Given the description of an element on the screen output the (x, y) to click on. 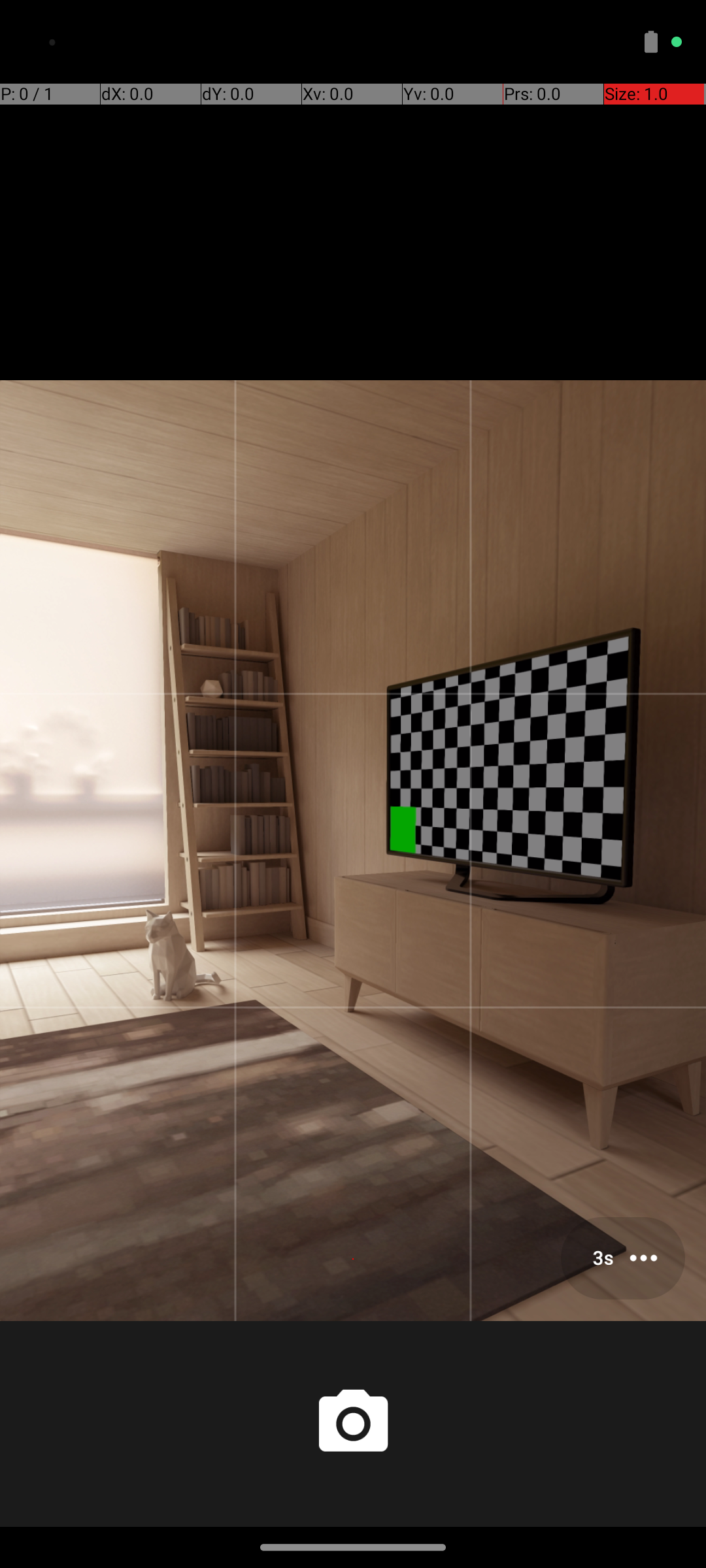
Options Element type: android.widget.LinearLayout (622, 1258)
